Given the description of an element on the screen output the (x, y) to click on. 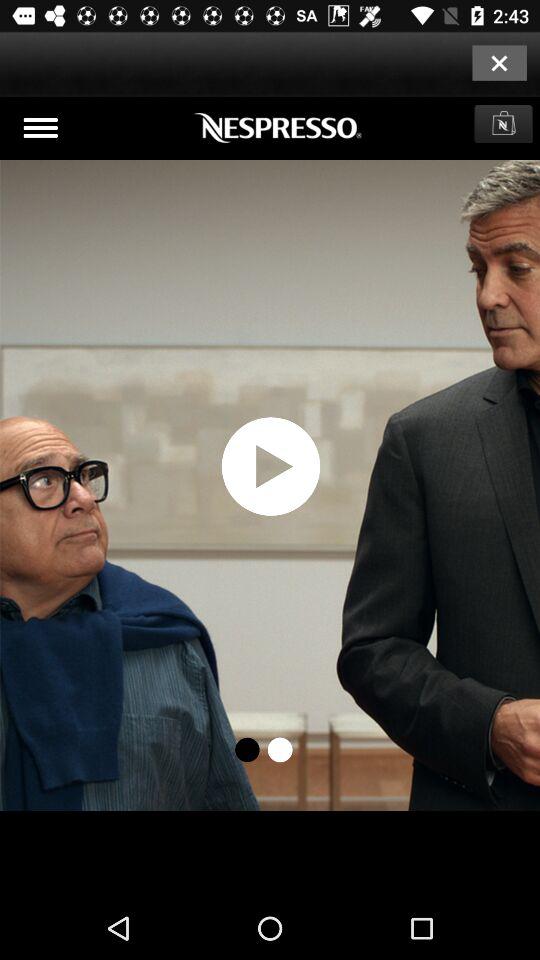
close (499, 62)
